Given the description of an element on the screen output the (x, y) to click on. 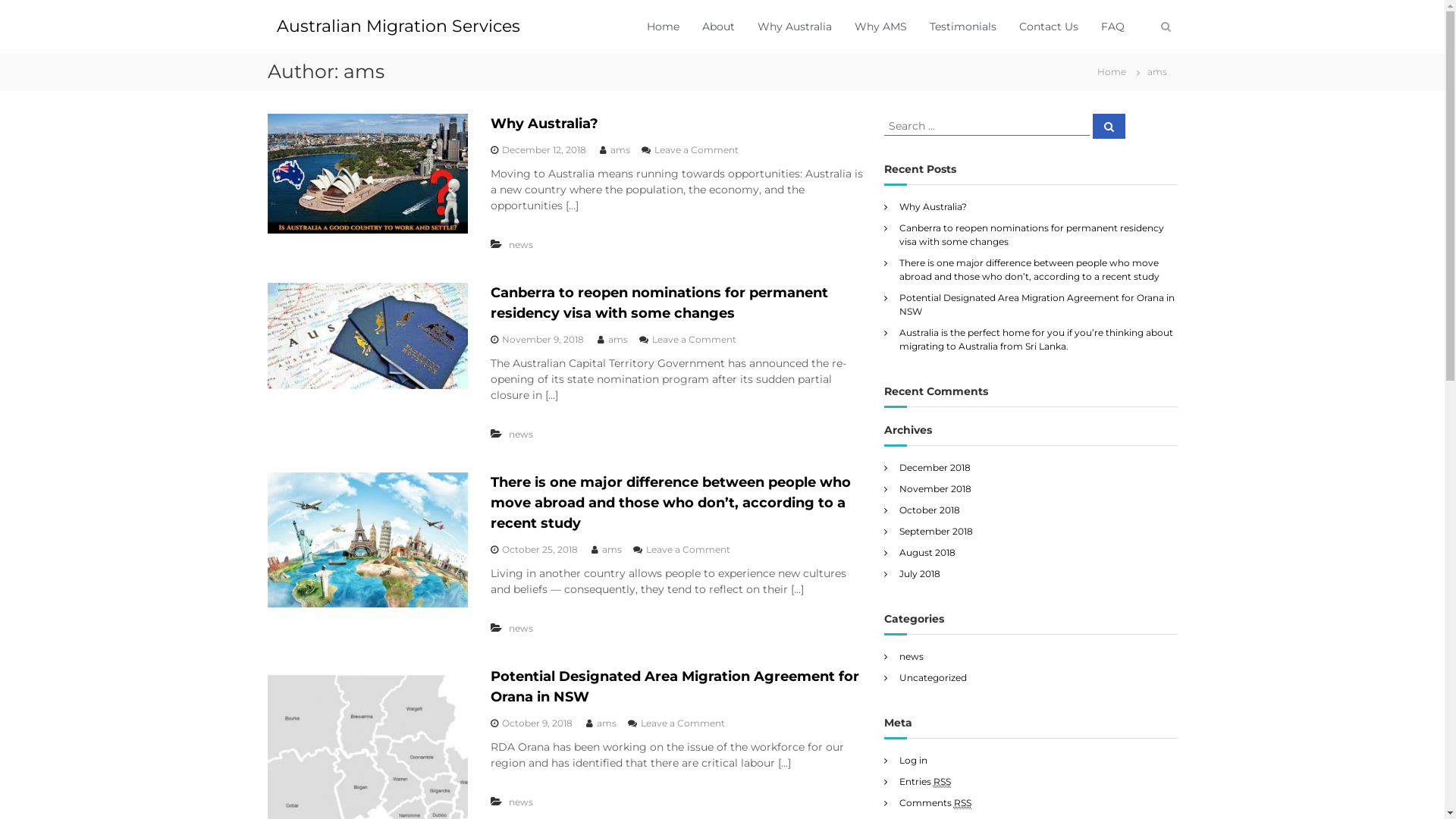
FAQ Element type: text (1112, 26)
Why Australia Element type: text (793, 26)
October 2018 Element type: text (929, 508)
ams Element type: text (606, 722)
September 2018 Element type: text (935, 530)
news Element type: text (520, 801)
Comments RSS Element type: text (935, 802)
news Element type: text (520, 433)
November 9, 2018 Element type: text (542, 339)
Australian Migration Services Element type: text (397, 25)
August 2018 Element type: text (927, 551)
December 12, 2018 Element type: text (544, 149)
Home Element type: text (662, 26)
Leave a Comment
on Why Australia? Element type: text (696, 149)
Why AMS Element type: text (879, 26)
Search Element type: text (1108, 125)
July 2018 Element type: text (919, 572)
October 9, 2018 Element type: text (537, 722)
news Element type: text (520, 627)
news Element type: text (911, 656)
ams Element type: text (617, 339)
November 2018 Element type: text (935, 487)
Home Element type: text (1110, 71)
About Element type: text (718, 26)
Skip to content Element type: text (0, 0)
Testimonials Element type: text (962, 26)
news Element type: text (520, 243)
Log in Element type: text (913, 759)
October 25, 2018 Element type: text (539, 548)
Uncategorized Element type: text (932, 677)
ams Element type: text (611, 548)
Contact Us Element type: text (1048, 26)
Entries RSS Element type: text (924, 781)
Why Australia? Element type: text (544, 123)
December 2018 Element type: text (934, 466)
ams Element type: text (620, 149)
Why Australia? Element type: text (932, 205)
